Given the description of an element on the screen output the (x, y) to click on. 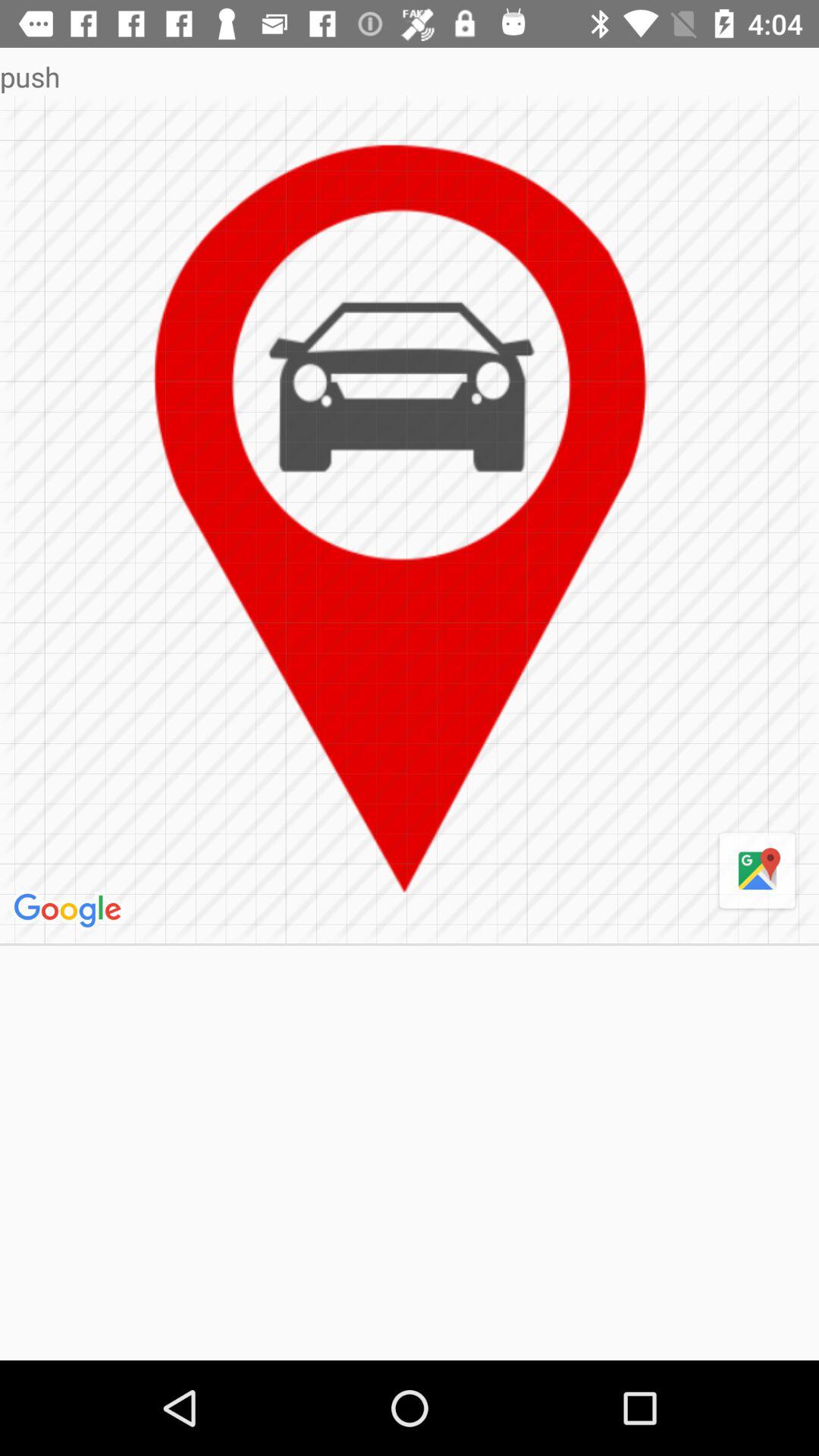
select the icon at the center (409, 519)
